Given the description of an element on the screen output the (x, y) to click on. 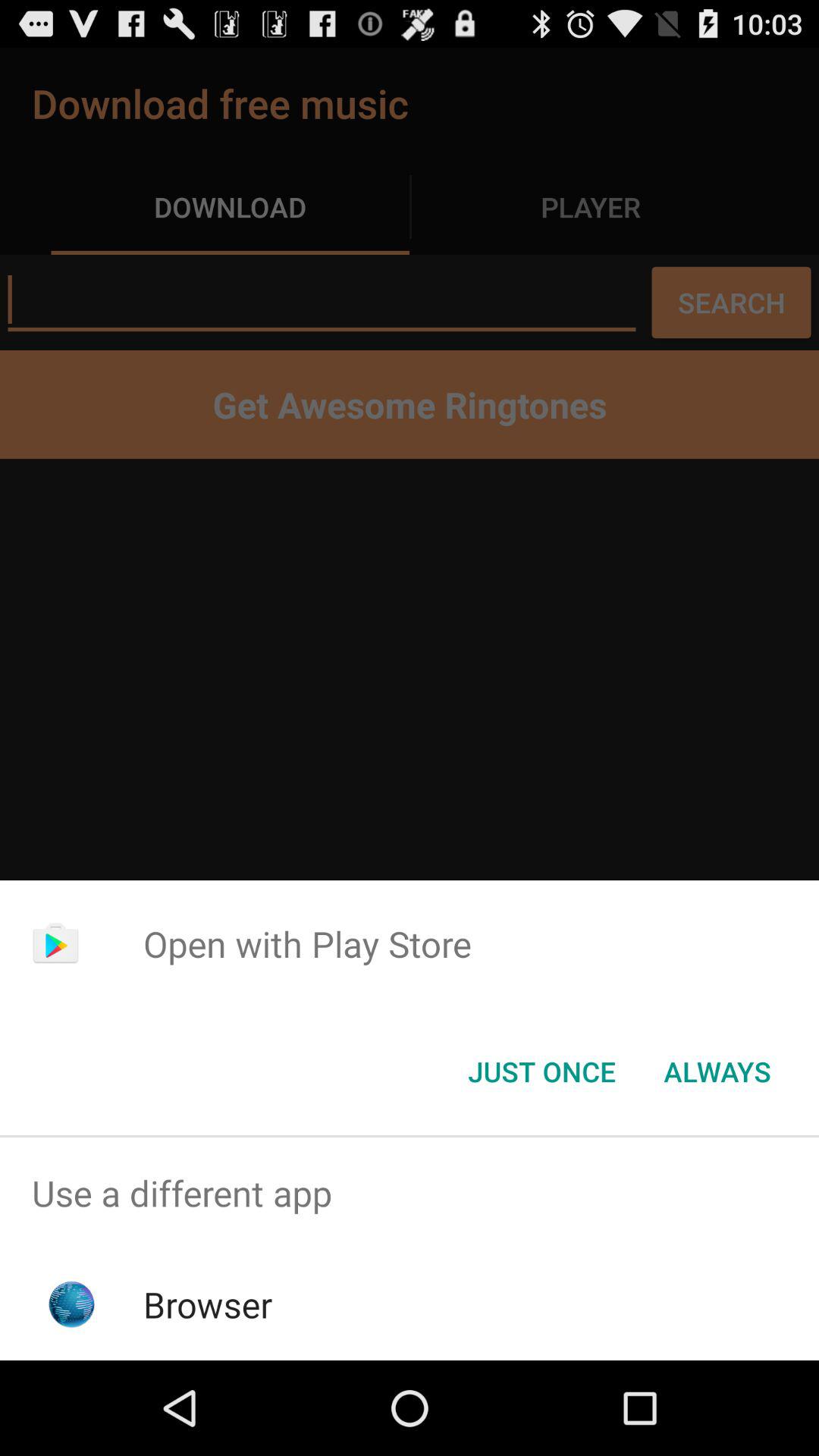
choose button to the right of the just once icon (717, 1071)
